Given the description of an element on the screen output the (x, y) to click on. 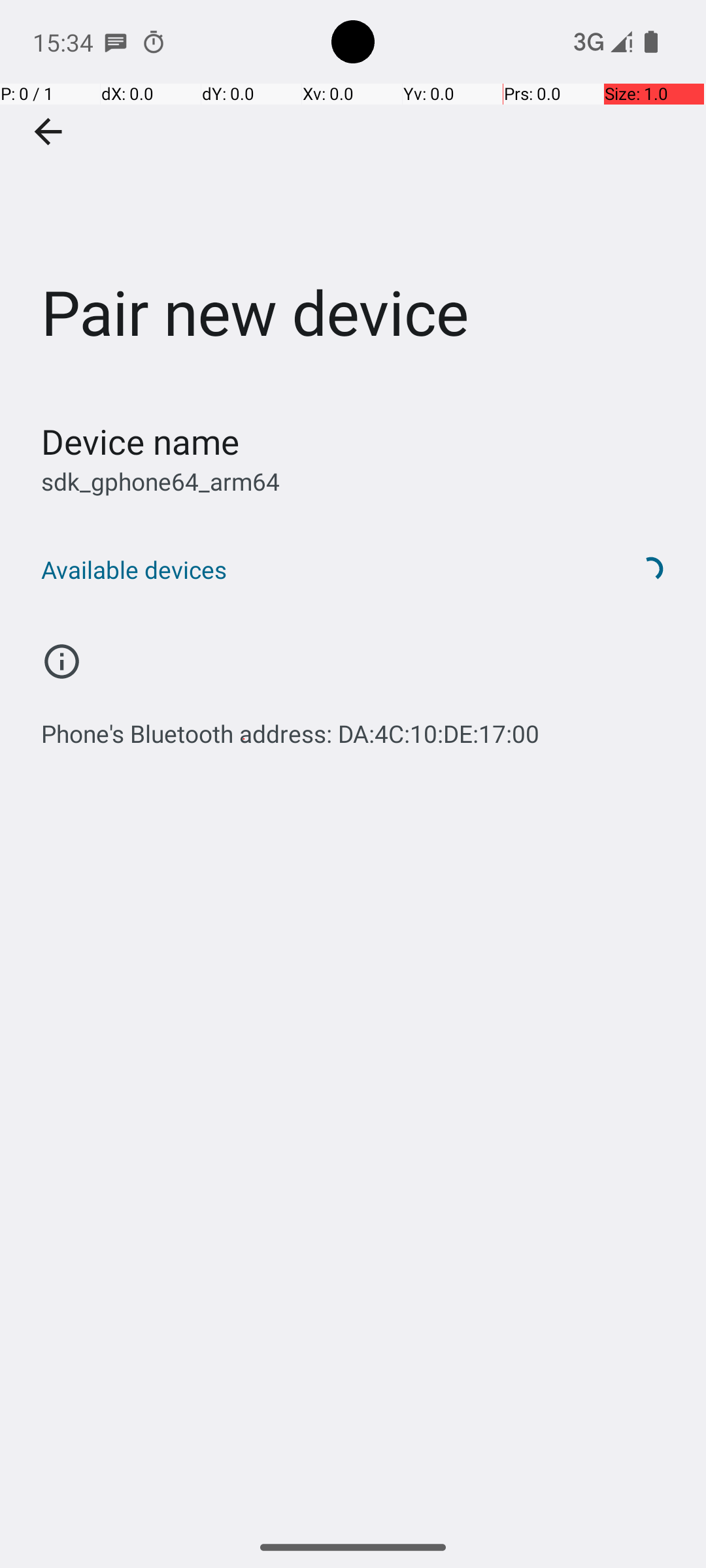
Available devices Element type: android.widget.TextView (318, 569)
Phone's Bluetooth address: DA:4C:10:DE:17:00 Element type: android.widget.TextView (290, 726)
